Given the description of an element on the screen output the (x, y) to click on. 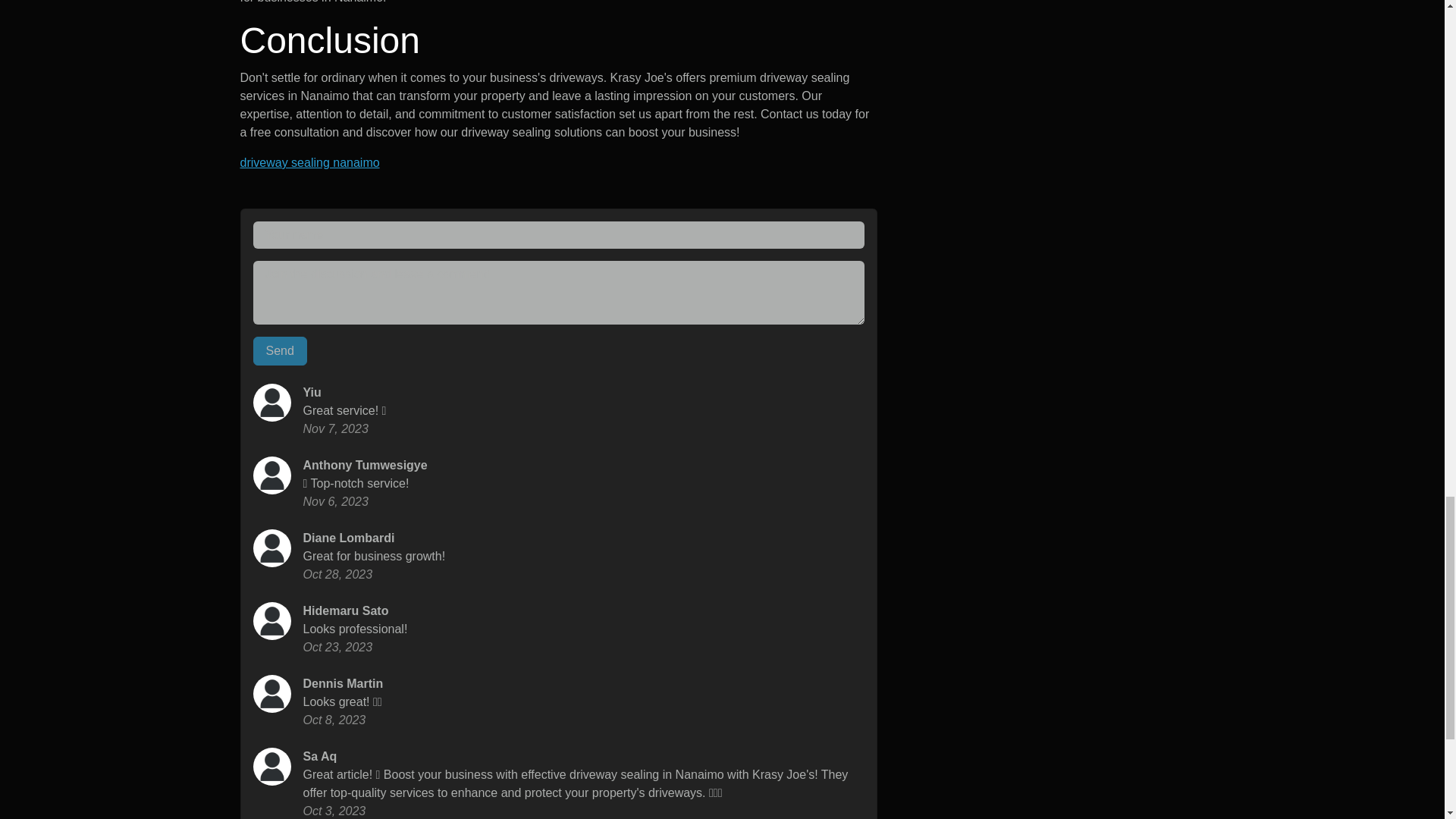
Send (280, 350)
Send (280, 350)
driveway sealing nanaimo (309, 162)
